Given the description of an element on the screen output the (x, y) to click on. 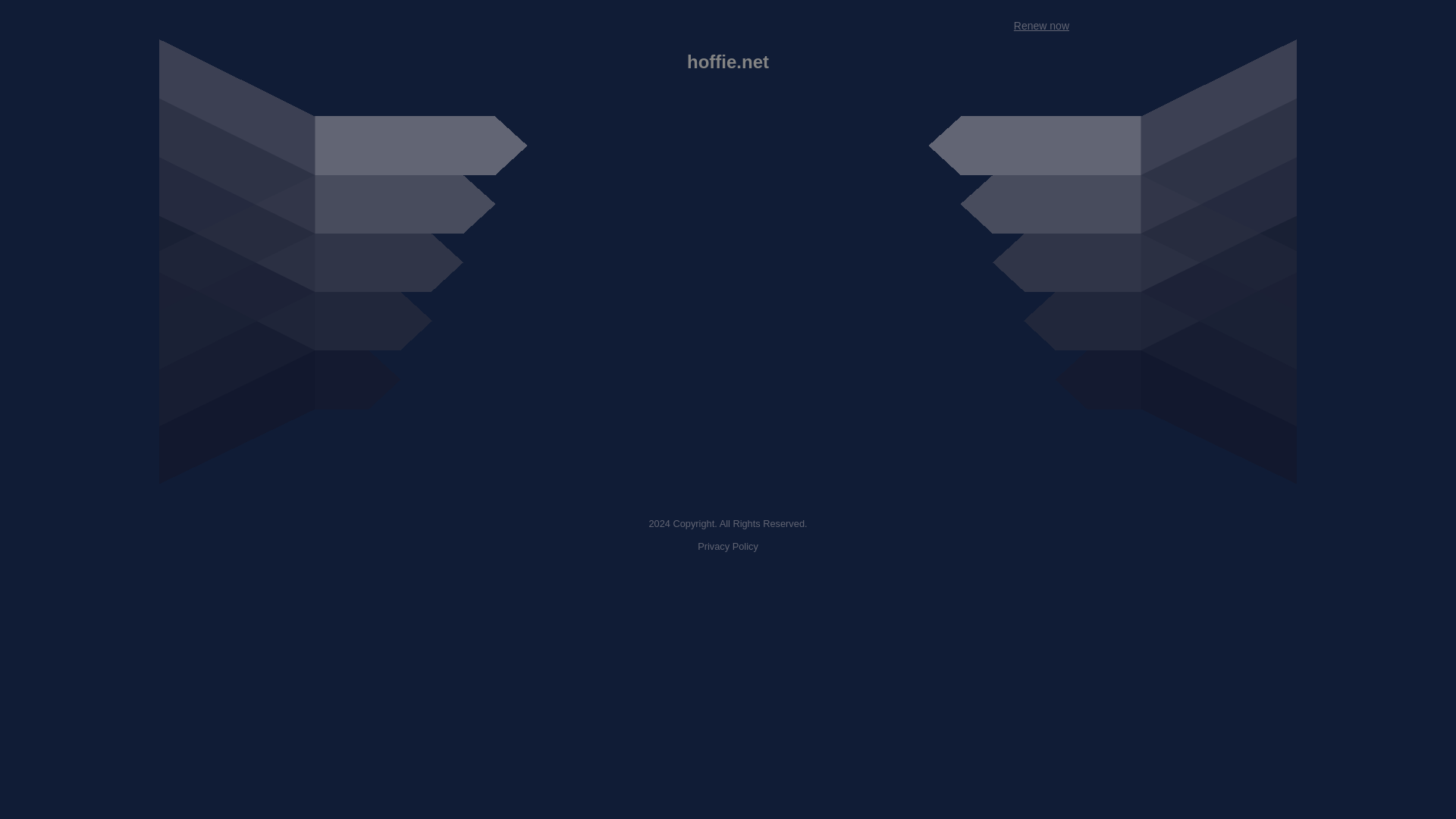
Privacy Policy (727, 546)
Renew now (1040, 25)
